Given the description of an element on the screen output the (x, y) to click on. 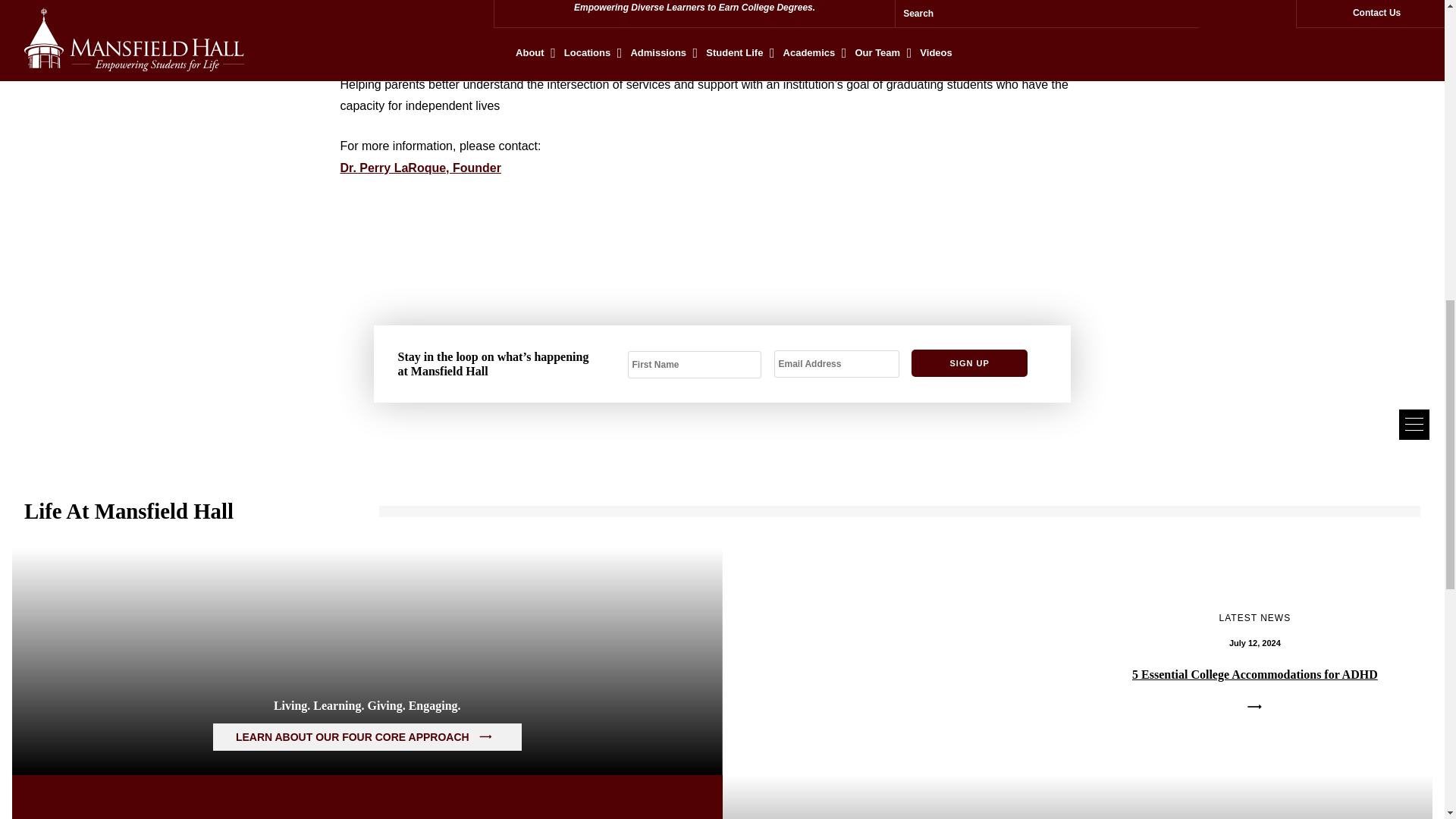
Sign Up (968, 362)
